Given the description of an element on the screen output the (x, y) to click on. 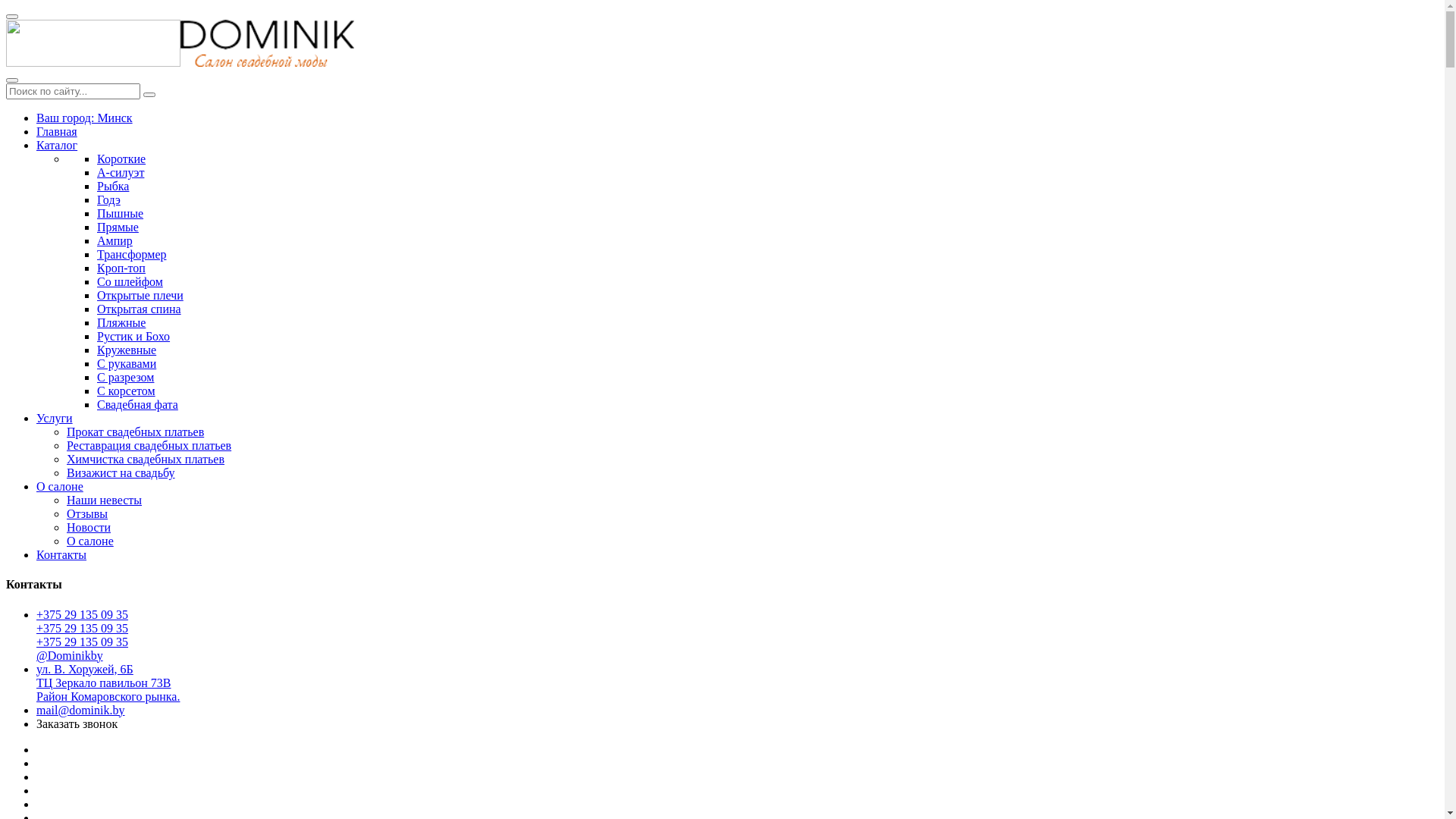
+375 29 135 09 35 Element type: text (82, 627)
+375 29 135 09 35 Element type: text (82, 614)
+375 29 135 09 35 Element type: text (82, 641)
mail@dominik.by Element type: text (80, 709)
@Dominikby Element type: text (69, 655)
